Given the description of an element on the screen output the (x, y) to click on. 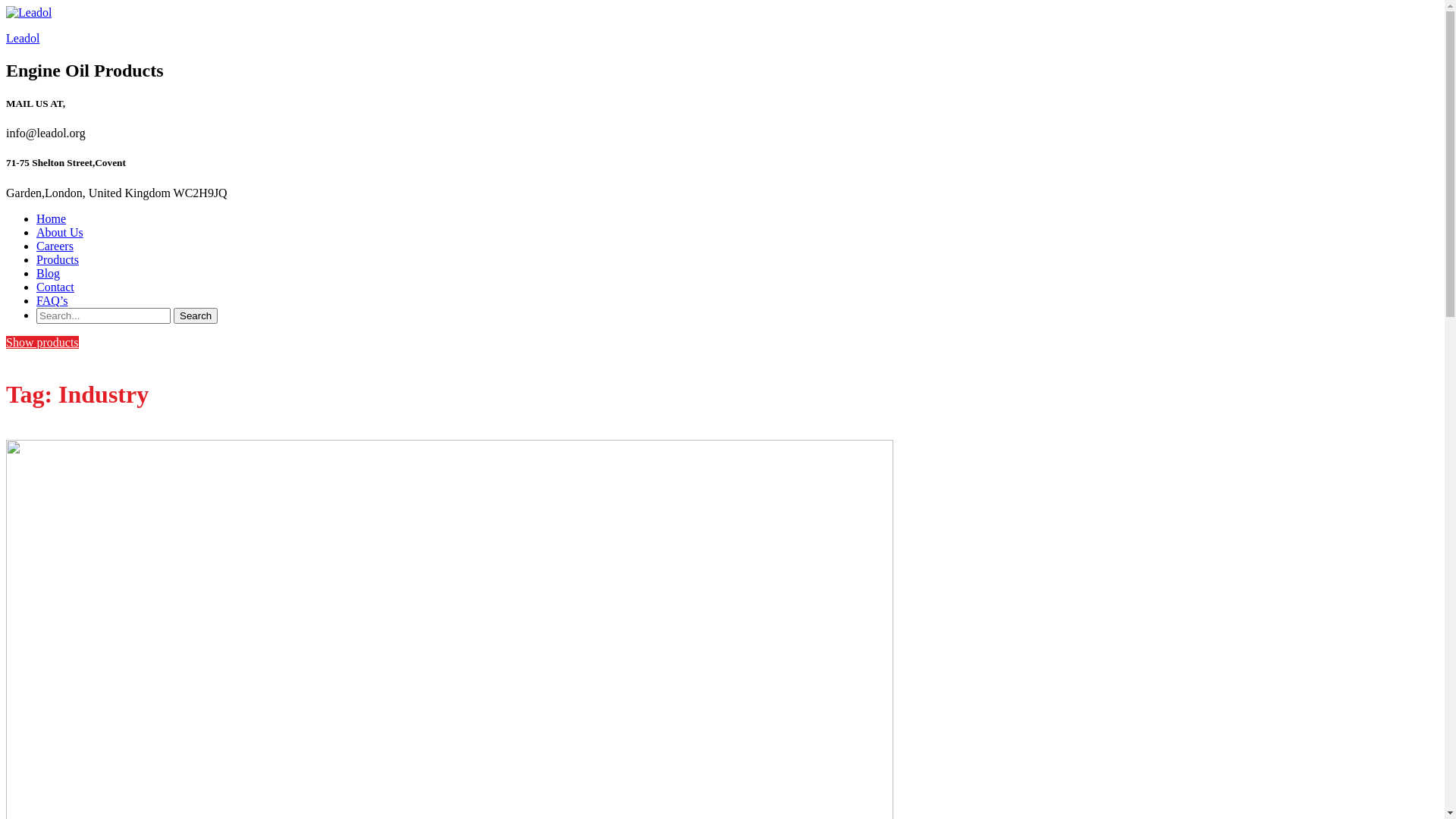
Leadol Element type: text (22, 37)
Contact Element type: text (55, 286)
About Us Element type: text (59, 231)
Blog Element type: text (47, 272)
Show products Element type: text (42, 341)
Search Element type: text (195, 315)
Home Element type: text (50, 218)
Careers Element type: text (54, 245)
Products Element type: text (57, 259)
